Given the description of an element on the screen output the (x, y) to click on. 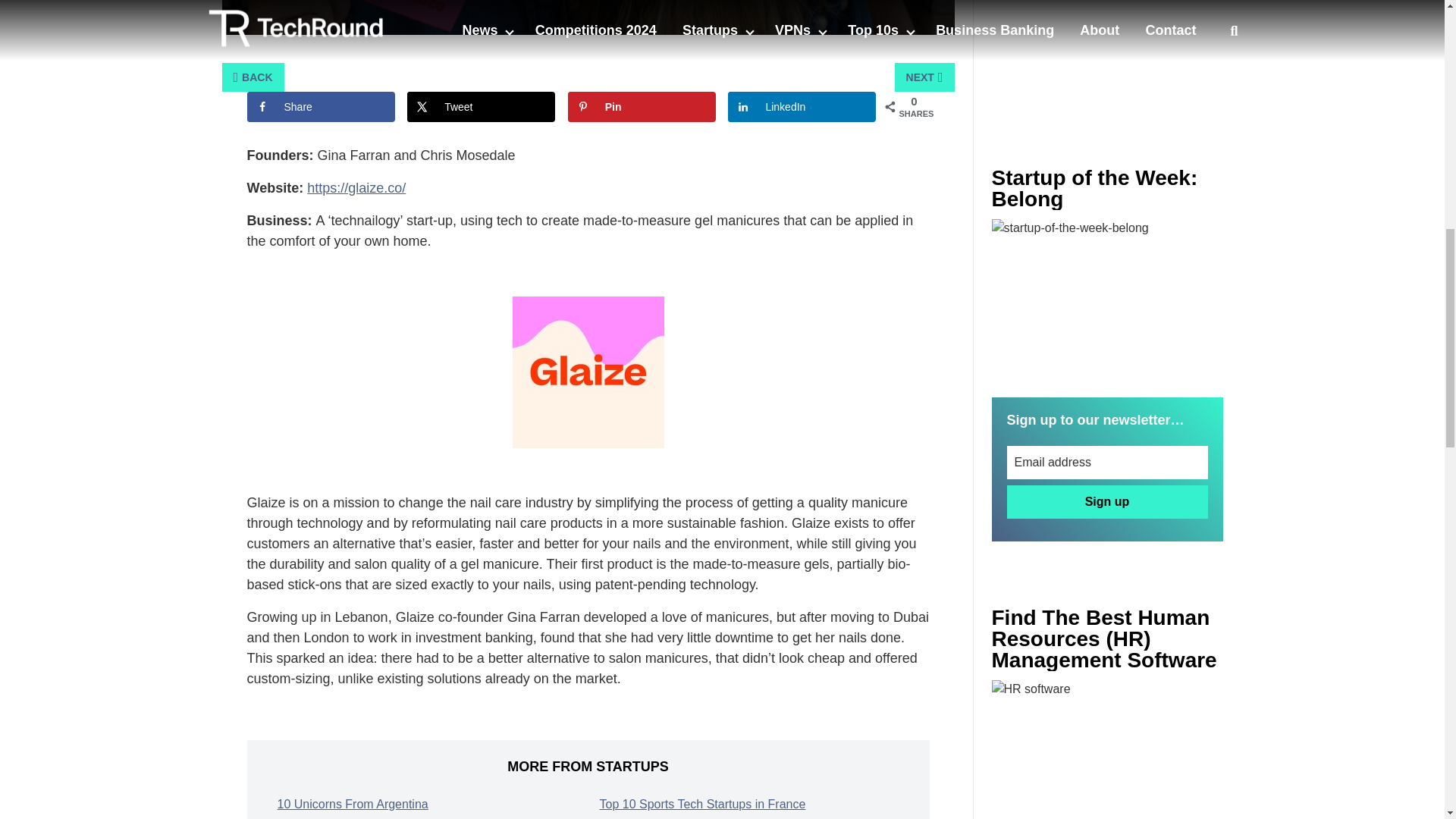
Share on Facebook (320, 106)
Sign up (1107, 501)
Share on X (480, 106)
Enter The BAME Top 50 Entrepreneurs - Deadline 10th Nov 2021 (1107, 749)
Share on LinkedIn (802, 106)
Startup of the Week: Neon Link (1107, 296)
Save to Pinterest (641, 106)
